Given the description of an element on the screen output the (x, y) to click on. 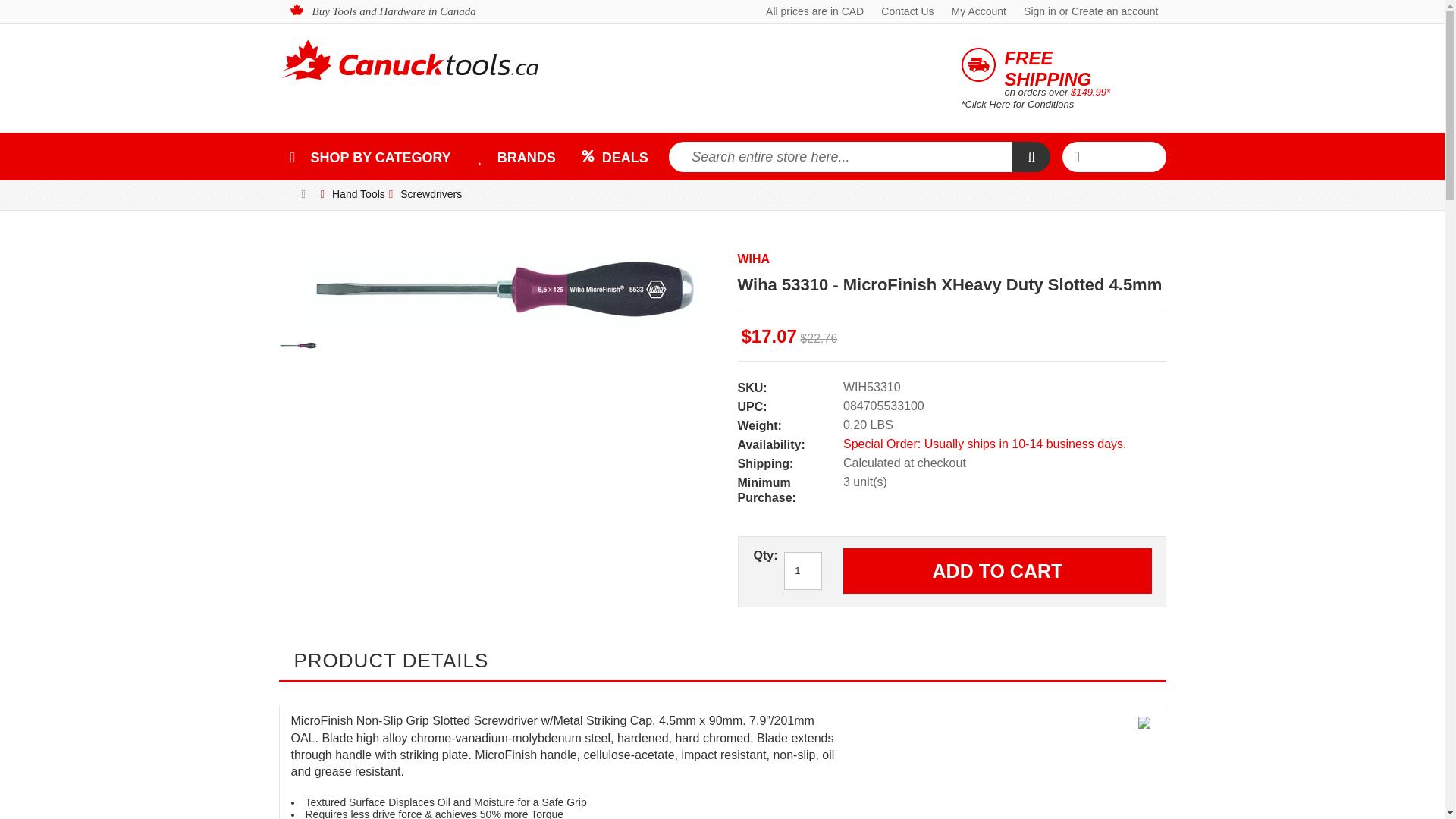
Search (1030, 156)
Image 1 (298, 337)
1 (803, 570)
Image 1 (499, 289)
Search entire store here... (839, 156)
